Given the description of an element on the screen output the (x, y) to click on. 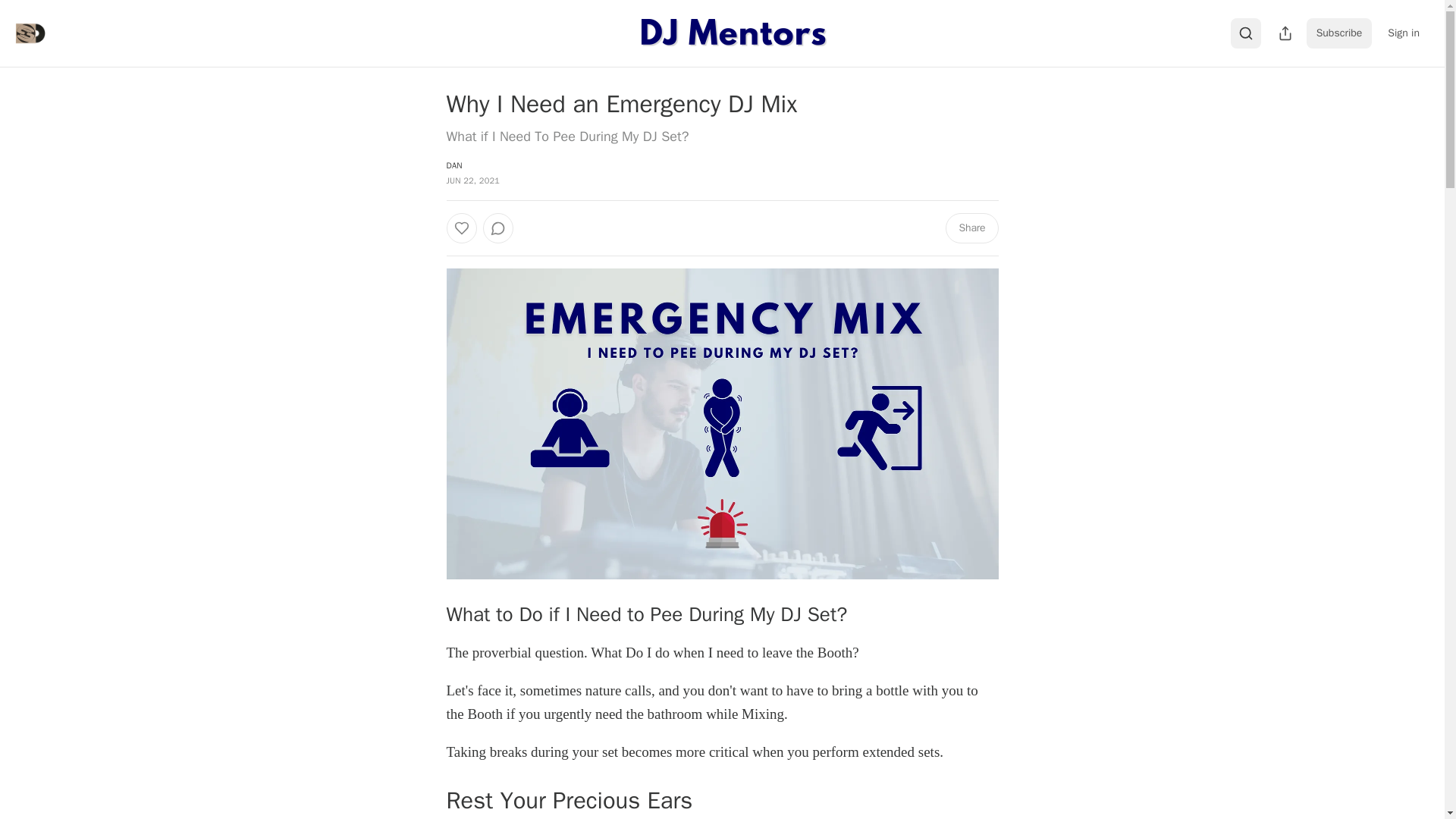
Share (970, 227)
Sign in (1403, 33)
DAN (453, 164)
Subscribe (1339, 33)
